Given the description of an element on the screen output the (x, y) to click on. 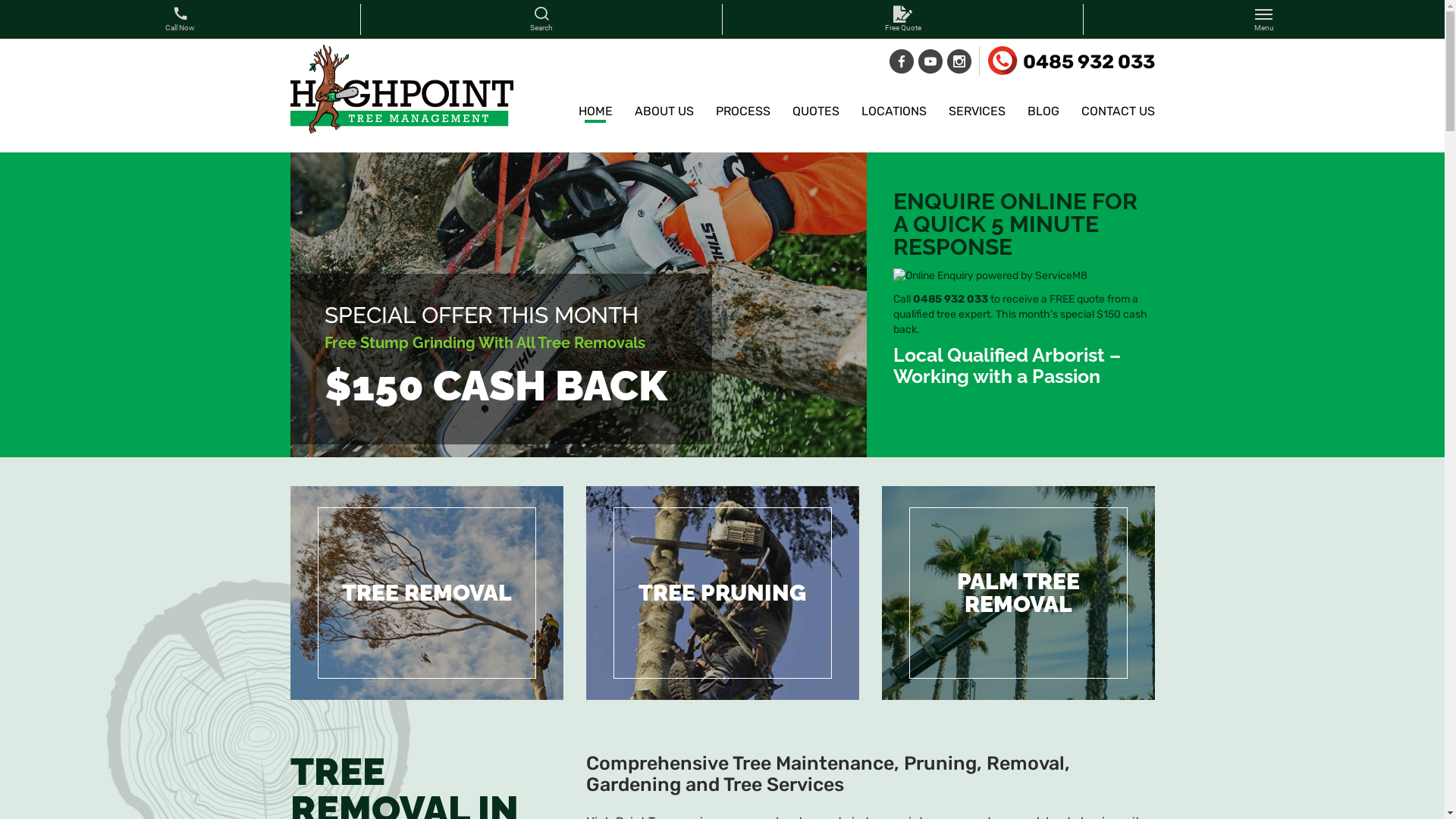
TREE PRUNING Element type: text (721, 593)
0485 932 033 Element type: text (950, 298)
PROCESS Element type: text (742, 113)
HOME Element type: text (594, 113)
SERVICES Element type: text (975, 113)
ABOUT US Element type: text (663, 113)
0485 932 033 Element type: text (1070, 61)
QUOTES Element type: text (814, 113)
BLOG Element type: text (1042, 113)
LOCATIONS Element type: text (893, 113)
TREE REMOVAL Element type: text (425, 593)
CONTACT US Element type: text (1117, 113)
PALM TREE REMOVAL Element type: text (1017, 593)
